Given the description of an element on the screen output the (x, y) to click on. 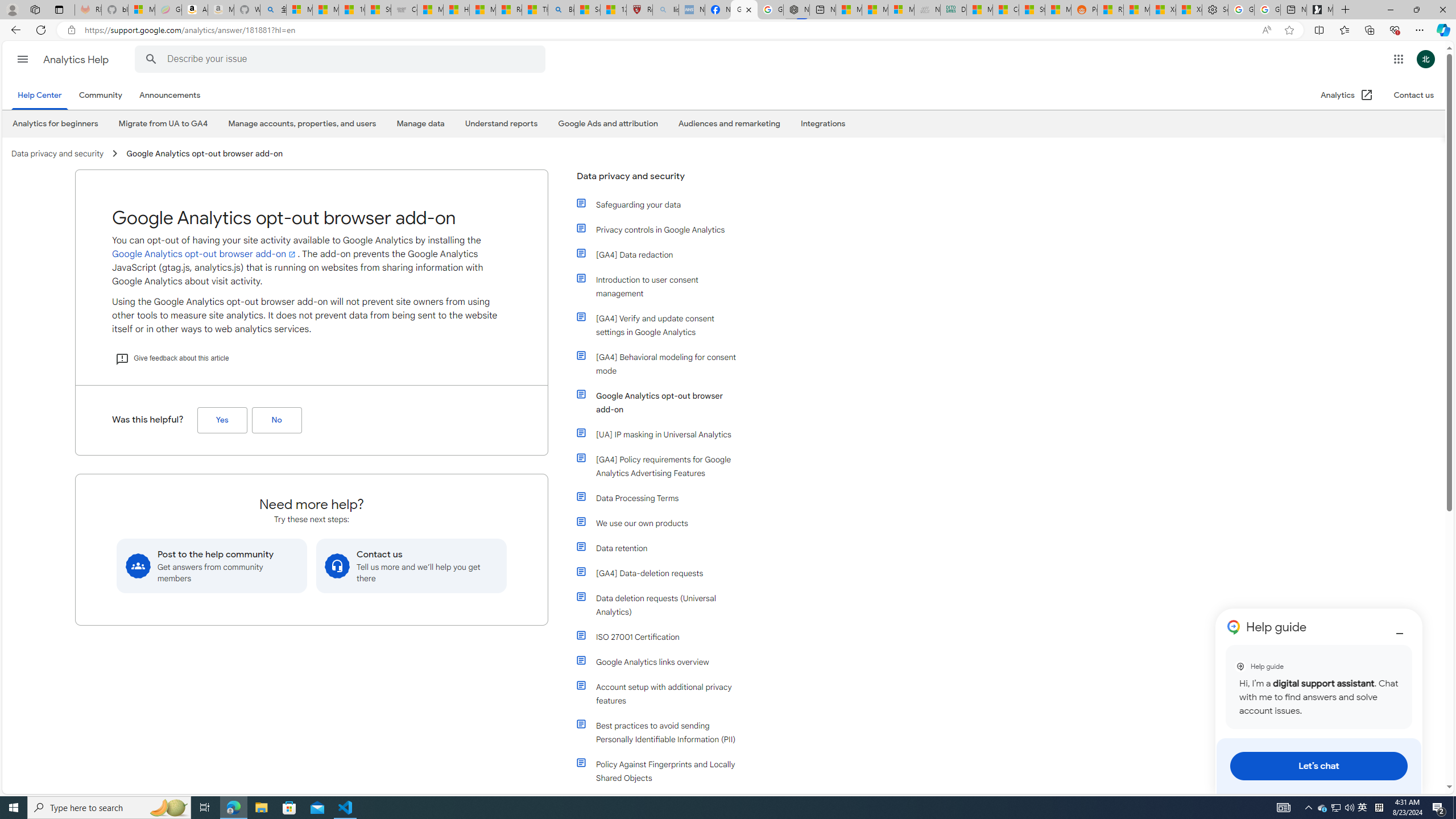
Analytics (Open in a new window) (1347, 95)
[GA4] Verify and update consent settings in Google Analytics (664, 325)
Search Help Center (151, 58)
